Given the description of an element on the screen output the (x, y) to click on. 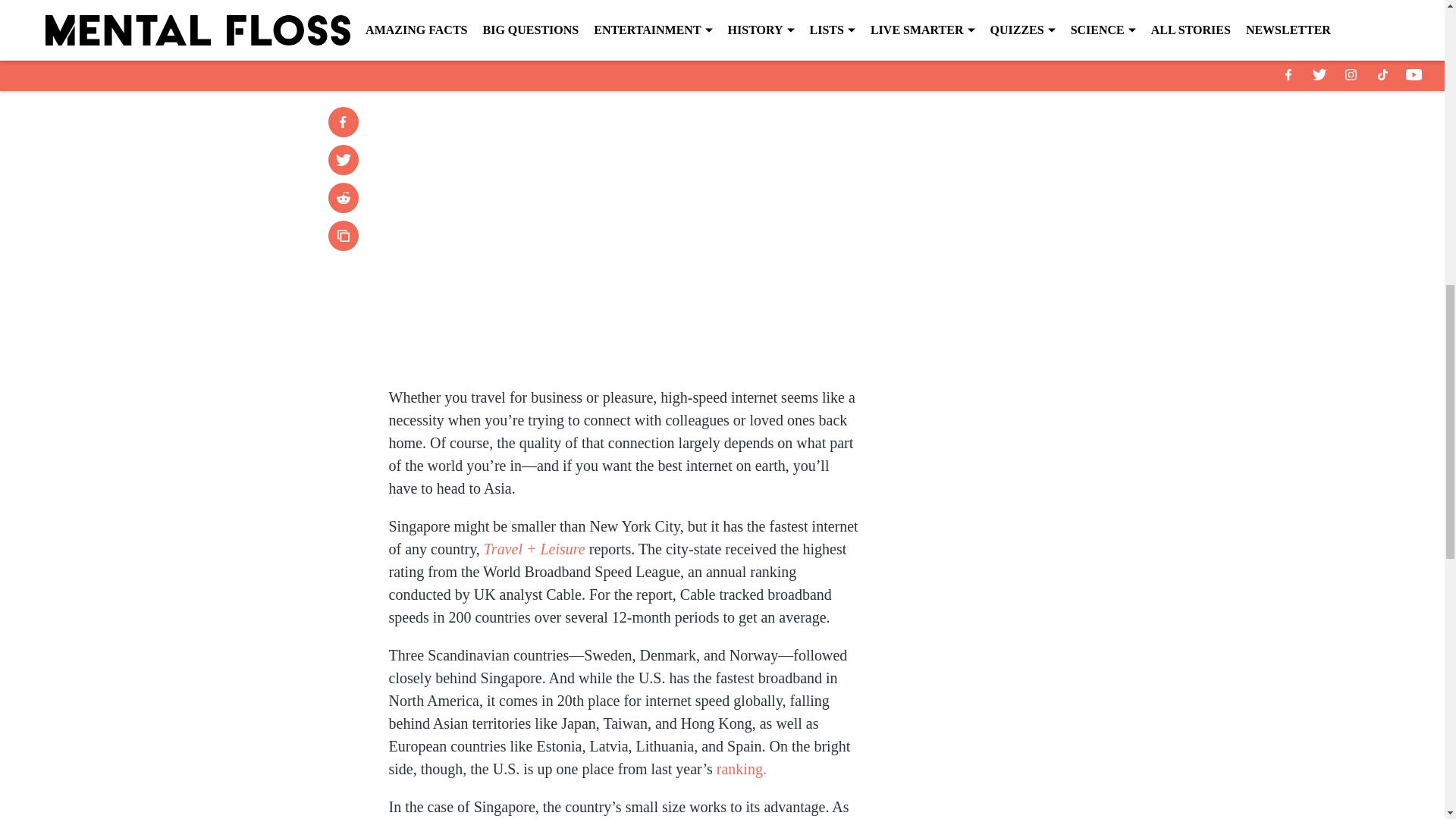
iStock (721, 22)
